Given the description of an element on the screen output the (x, y) to click on. 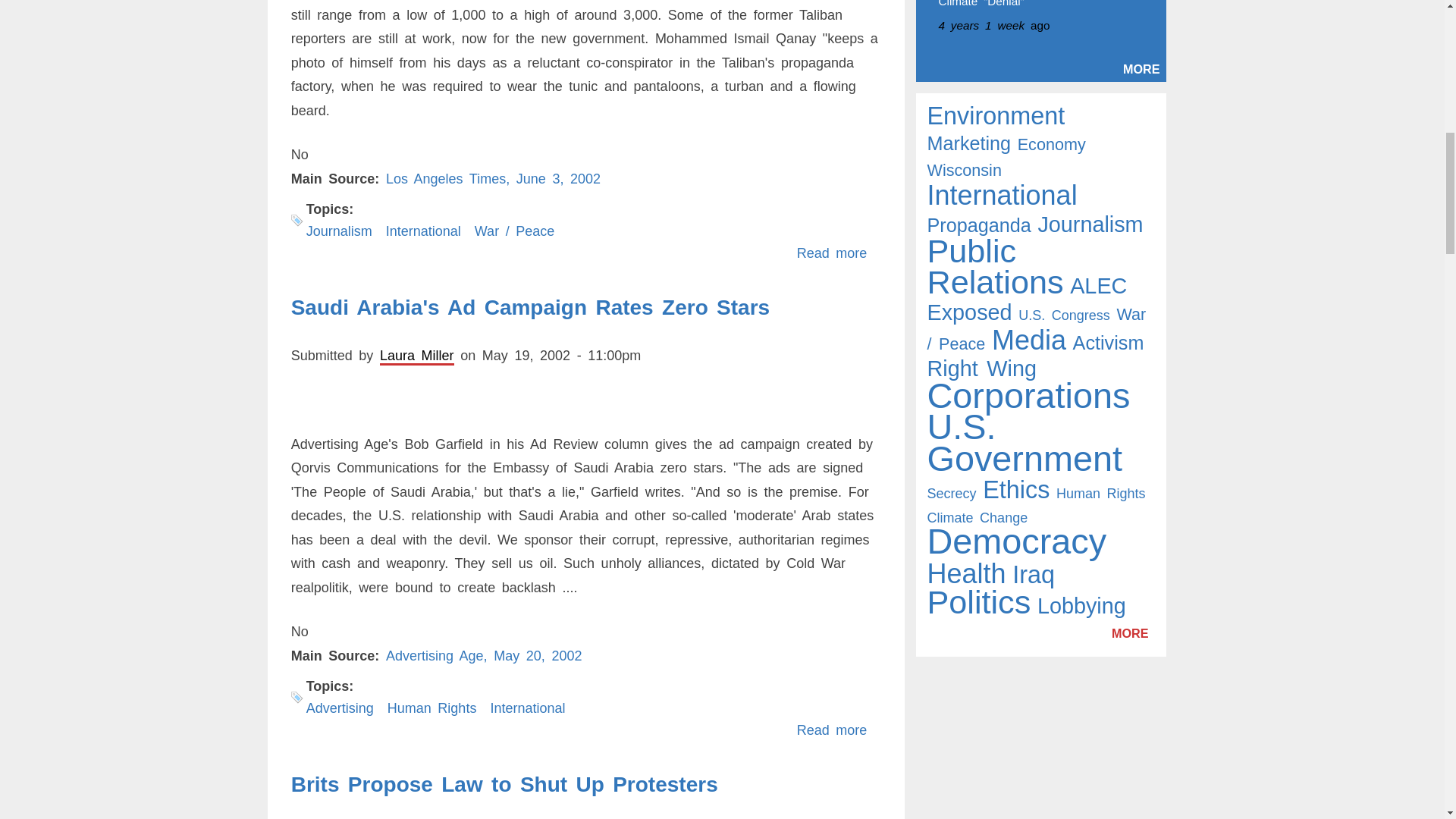
Human Rights (432, 708)
Bad News Is Good News (831, 253)
Journalism (338, 231)
Saudi Arabia's Ad Campaign Rates Zero Stars (530, 307)
Laura Miller (417, 355)
Advertising Age, May 20, 2002 (483, 655)
International (526, 708)
Los Angeles Times, June 3, 2002 (492, 178)
International (423, 231)
Advertising (339, 708)
